Given the description of an element on the screen output the (x, y) to click on. 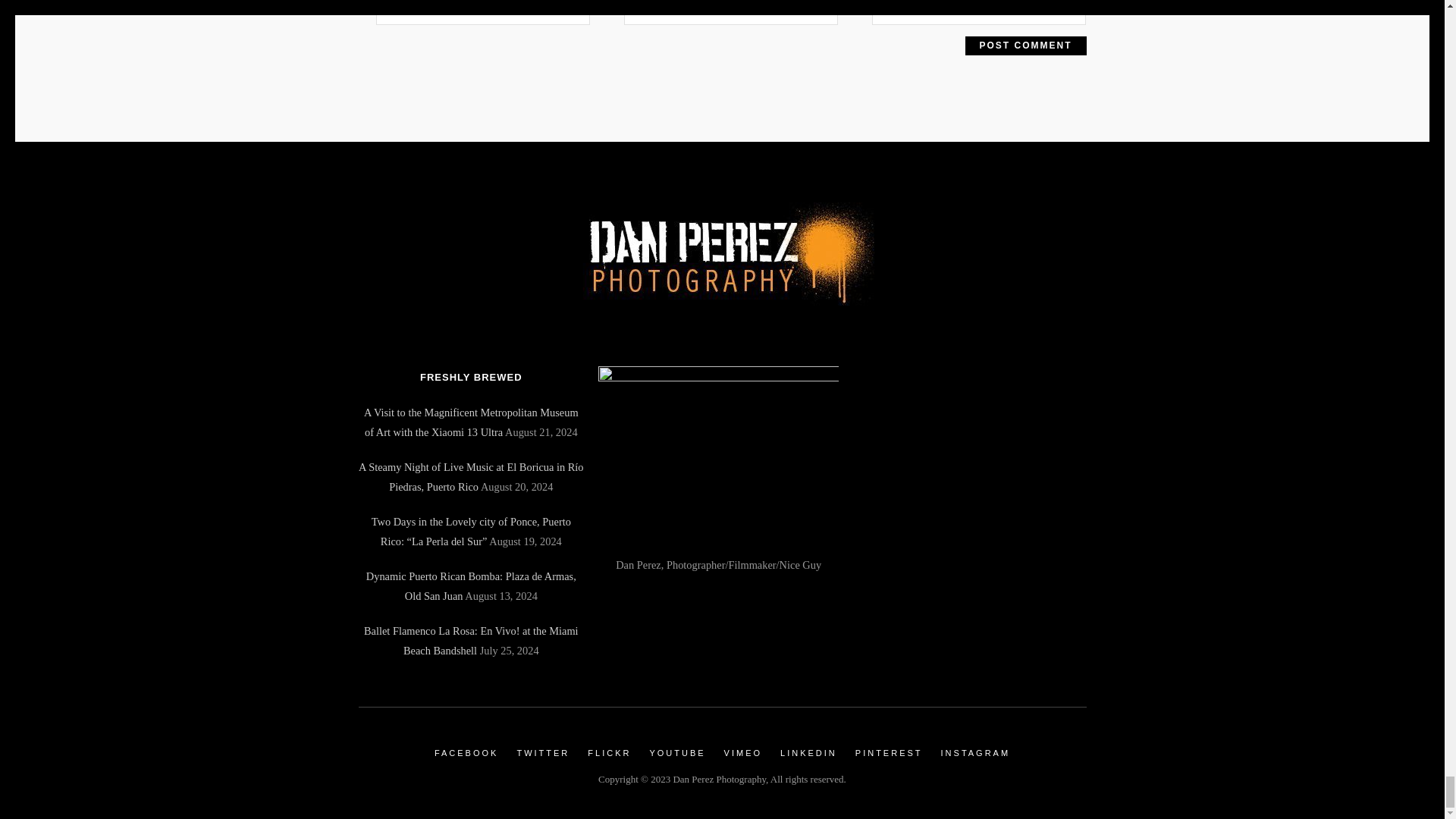
Post Comment (1024, 46)
Linkedin (808, 752)
Flickr (609, 752)
Vimeo (742, 752)
Pinterest (889, 752)
Instagram (975, 752)
Youtube (676, 752)
